Given the description of an element on the screen output the (x, y) to click on. 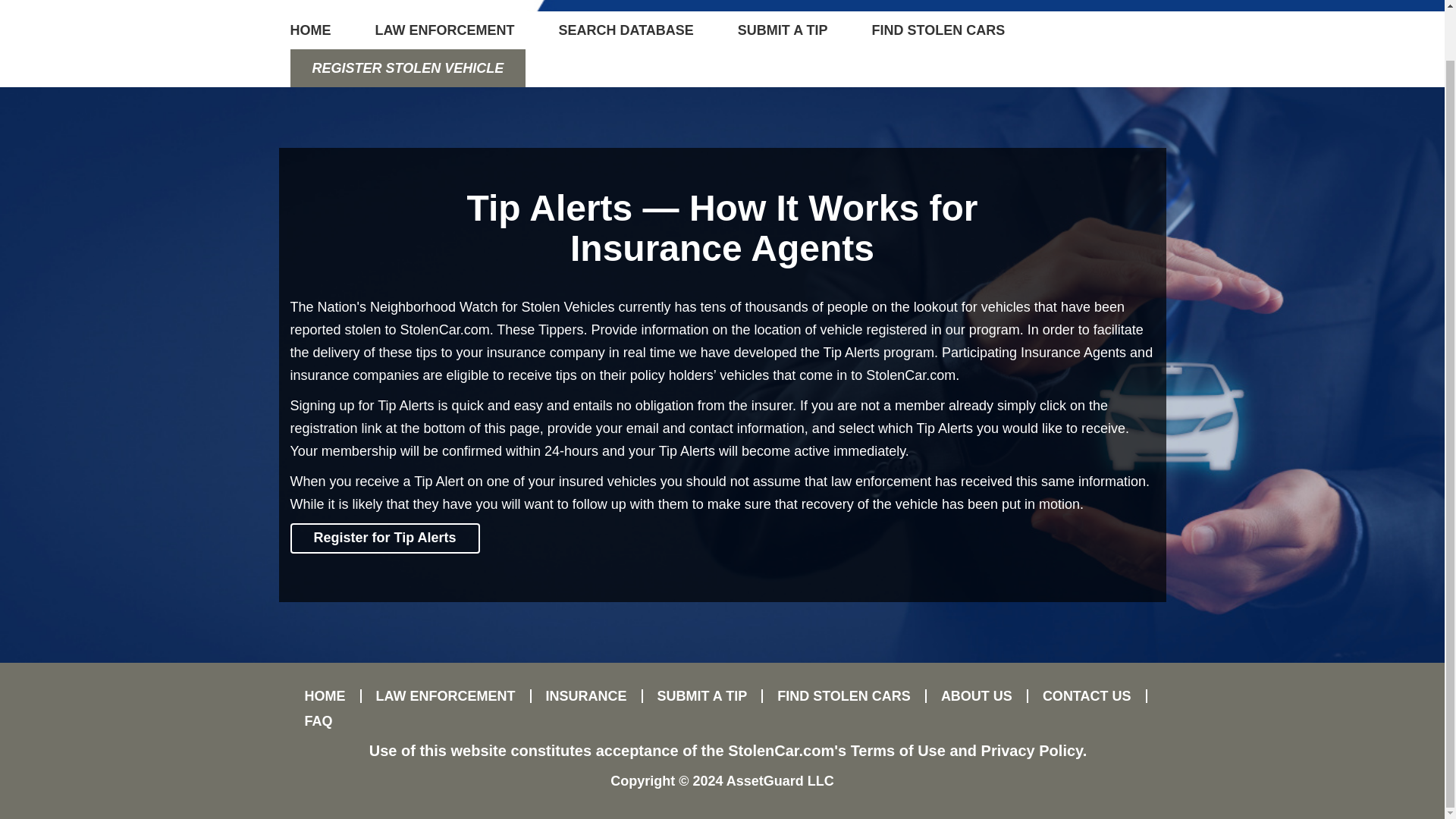
FAQ (310, 721)
INSURANCE (586, 695)
REGISTER STOLEN VEHICLE (407, 67)
home (325, 695)
ABOUT US (976, 695)
LAW ENFORCEMENT (446, 695)
FIND STOLEN CARS (844, 695)
FIND STOLEN CARS (938, 30)
SUBMIT A TIP (702, 695)
CONTACT US (1087, 695)
HOME (320, 30)
INSURANCE (586, 695)
ABOUT US (976, 695)
FAQ (310, 721)
SUBMIT A TIP (783, 30)
